Given the description of an element on the screen output the (x, y) to click on. 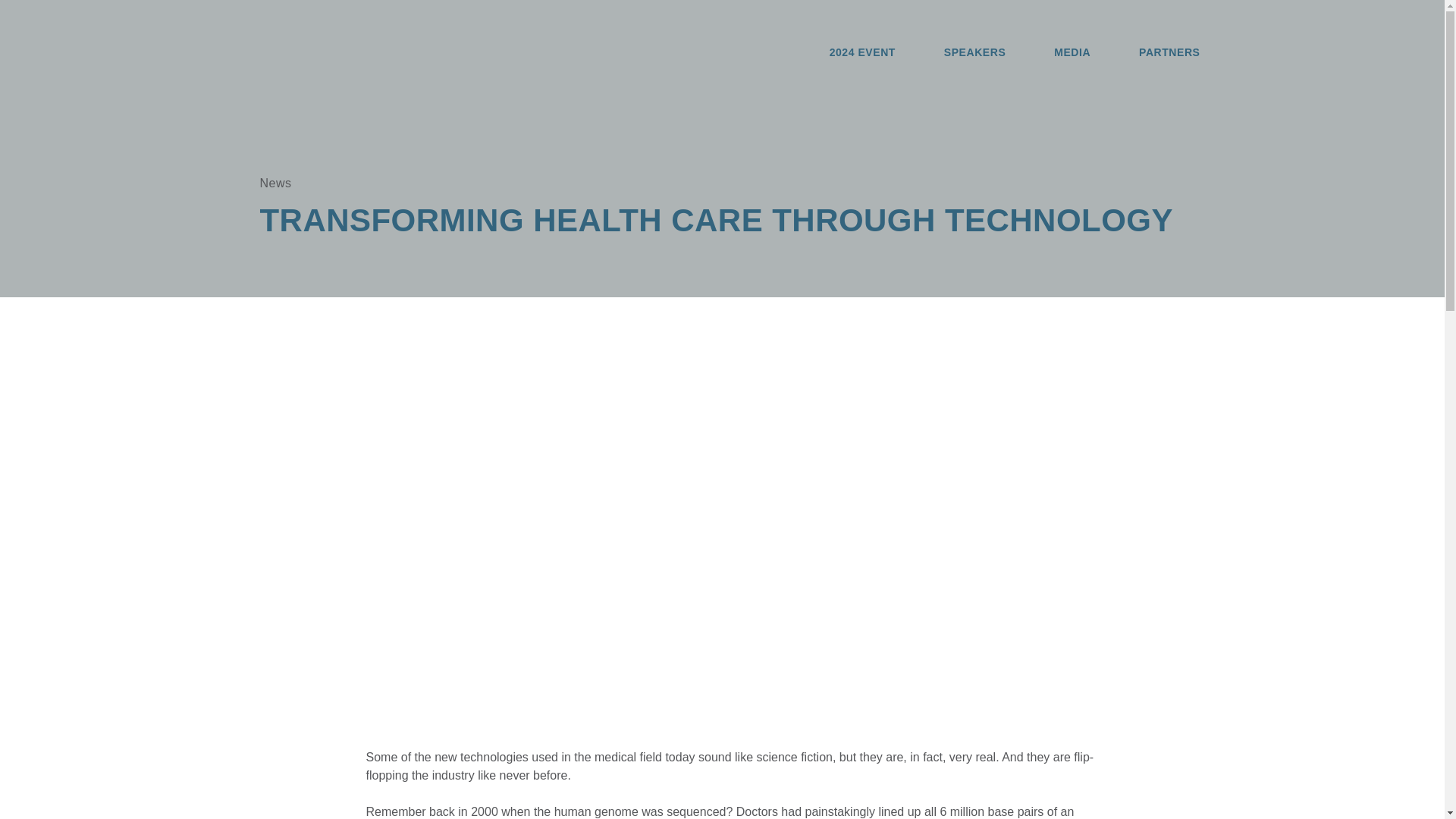
News (275, 182)
PARTNERS (1168, 52)
SPEAKERS (974, 52)
2024 EVENT (862, 52)
